Given the description of an element on the screen output the (x, y) to click on. 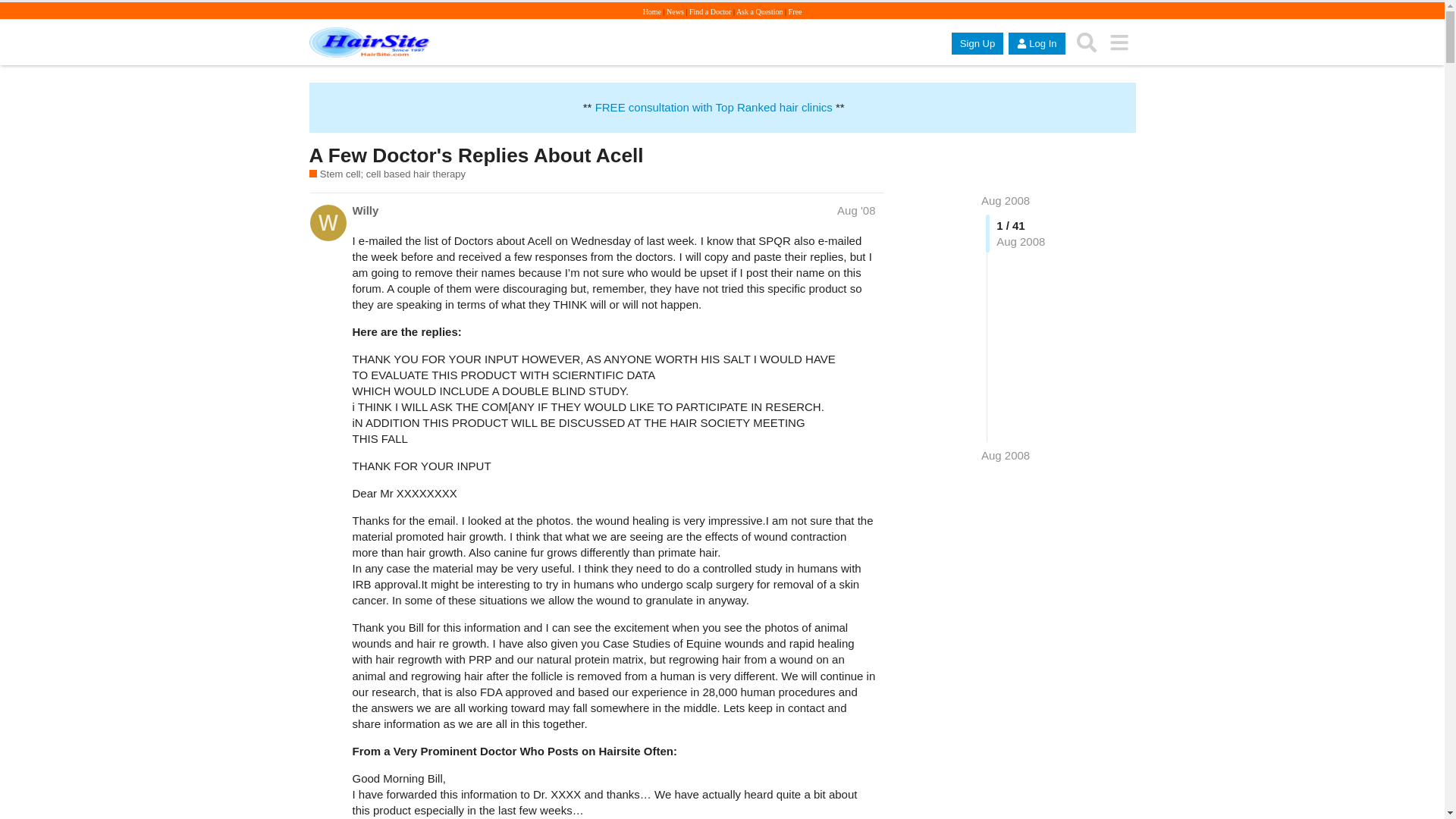
menu (1119, 42)
Gene therapy, hair multiplication, hair cloning (386, 173)
Aug '08 (856, 210)
Willy (365, 210)
News (675, 11)
Aug 16, 2008 5:27 am (1005, 454)
Log In (1036, 43)
Stem cell; cell based hair therapy (386, 173)
Home (652, 10)
Find a Doctor (710, 11)
A Few Doctor's Replies About Acell (475, 155)
FREE consultation with Top Ranked hair clinics (713, 106)
Sign Up (977, 43)
Aug 2008 (1005, 455)
Search (1086, 42)
